Given the description of an element on the screen output the (x, y) to click on. 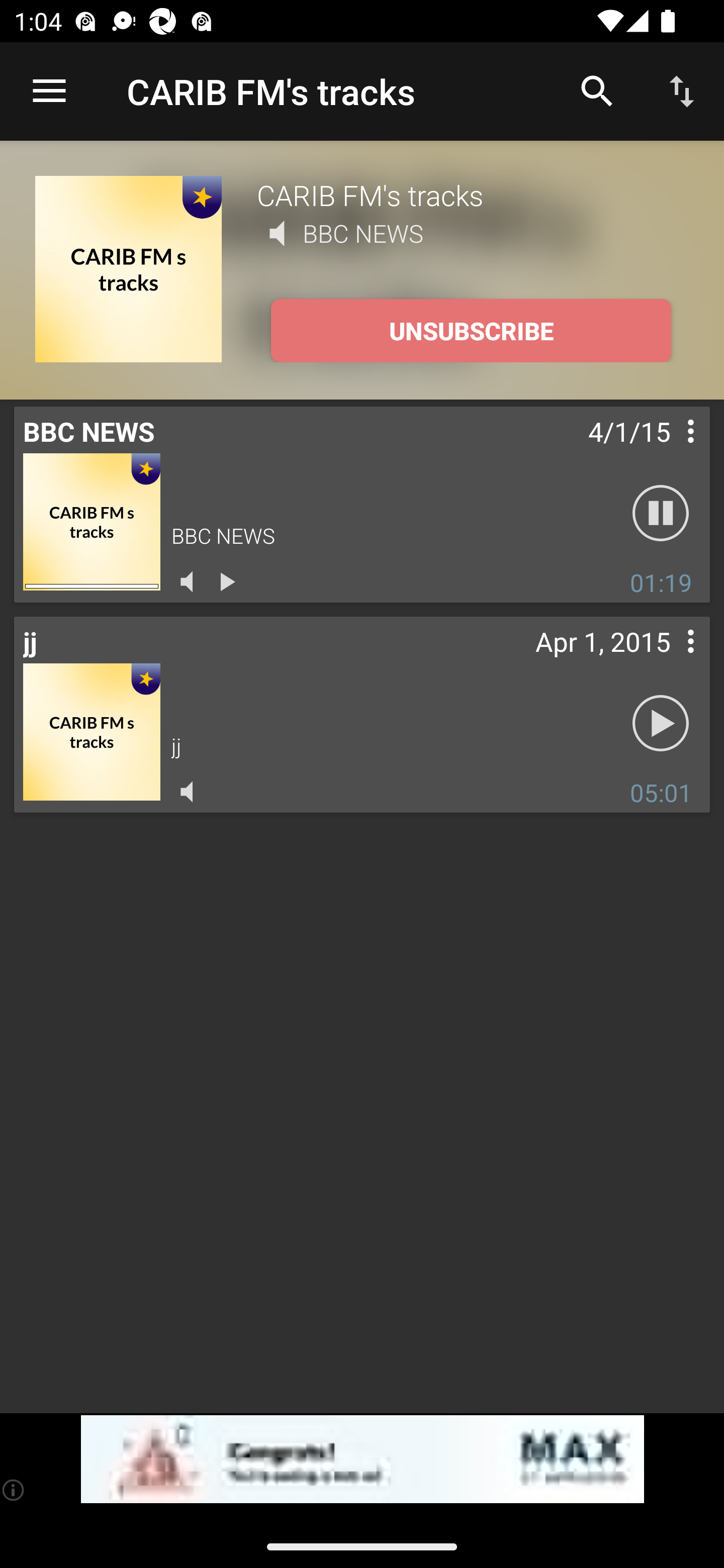
Open navigation sidebar (49, 91)
Search (597, 90)
Sort (681, 90)
UNSUBSCRIBE (470, 330)
Contextual menu (668, 451)
Pause (660, 513)
Contextual menu (668, 661)
Play (660, 723)
app-monetization (362, 1459)
(i) (14, 1489)
